Given the description of an element on the screen output the (x, y) to click on. 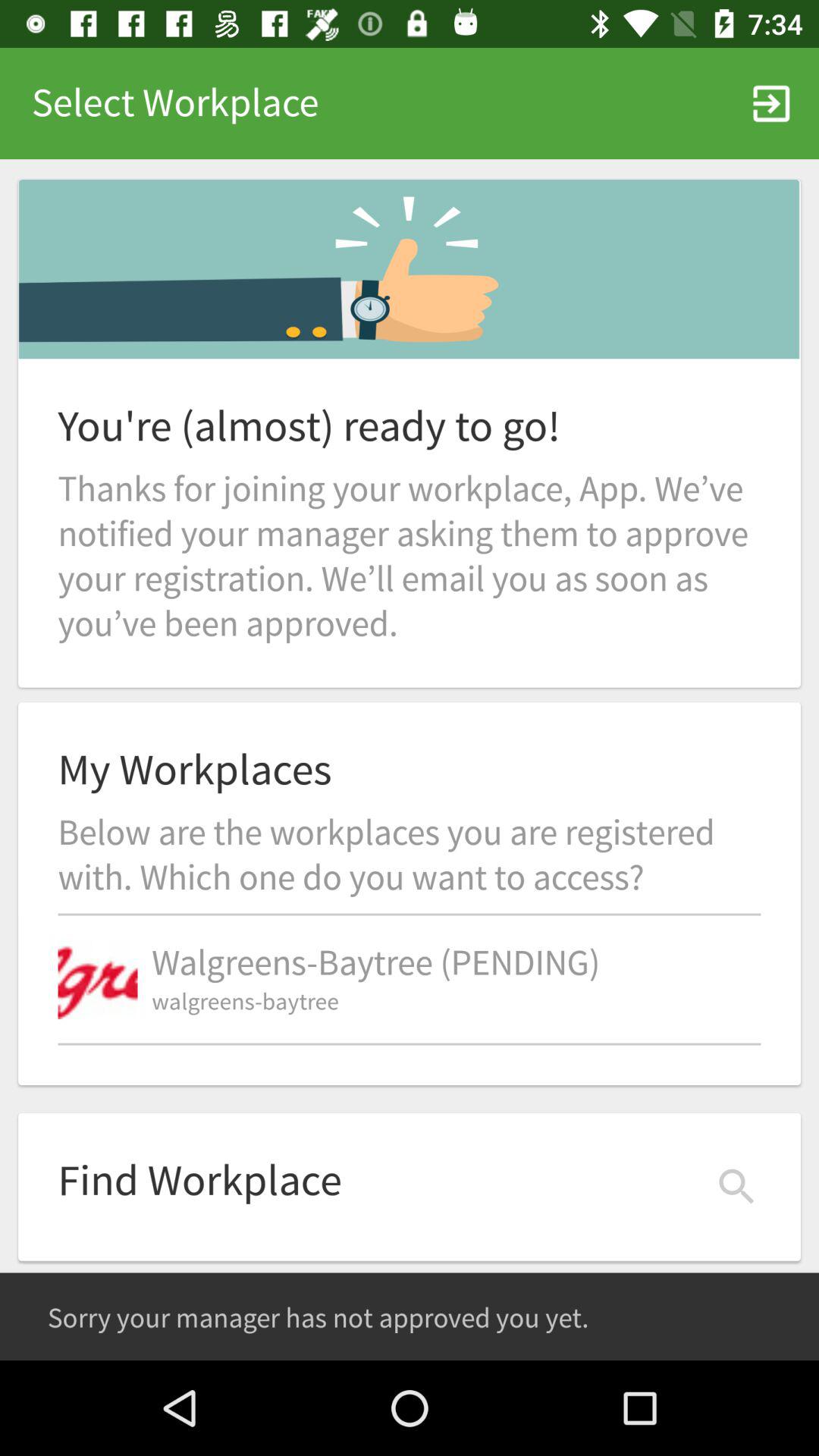
turn off item at the top right corner (771, 103)
